Given the description of an element on the screen output the (x, y) to click on. 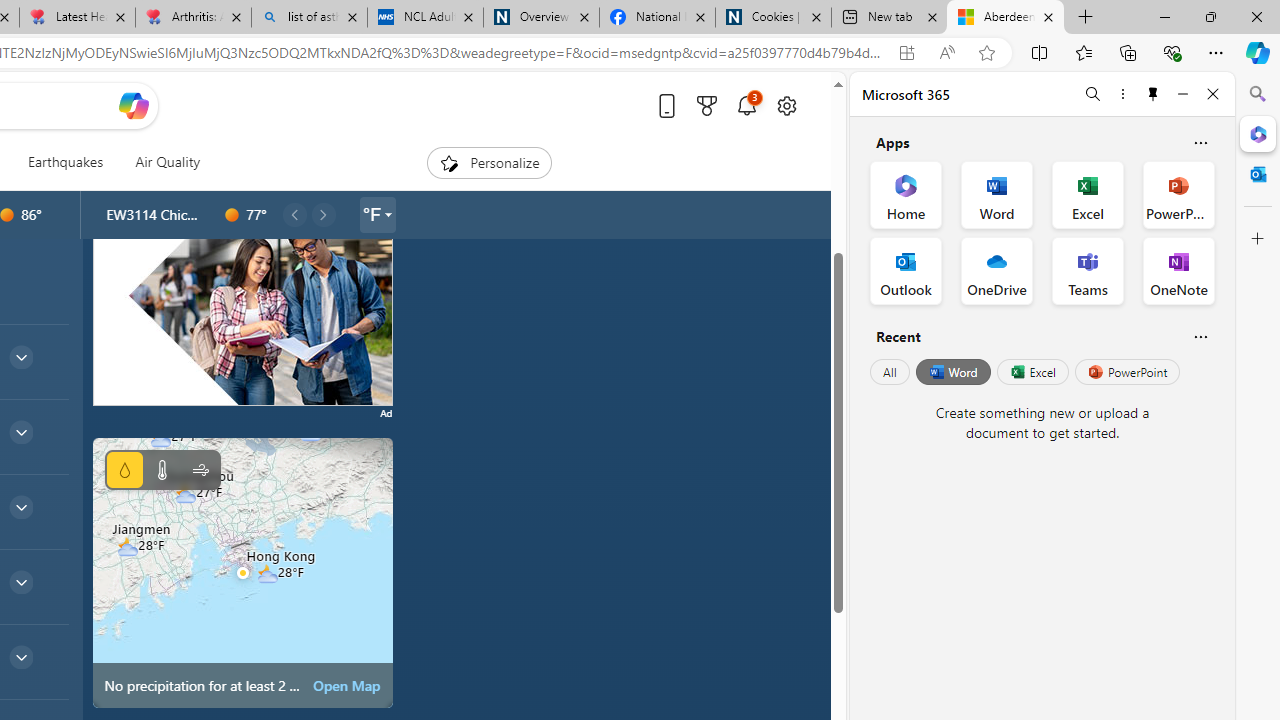
Earthquakes (65, 162)
App available. Install Microsoft Start Weather (906, 53)
PowerPoint Office App (1178, 194)
Open Map (347, 685)
Is this helpful? (1200, 336)
OneNote Office App (1178, 270)
